Given the description of an element on the screen output the (x, y) to click on. 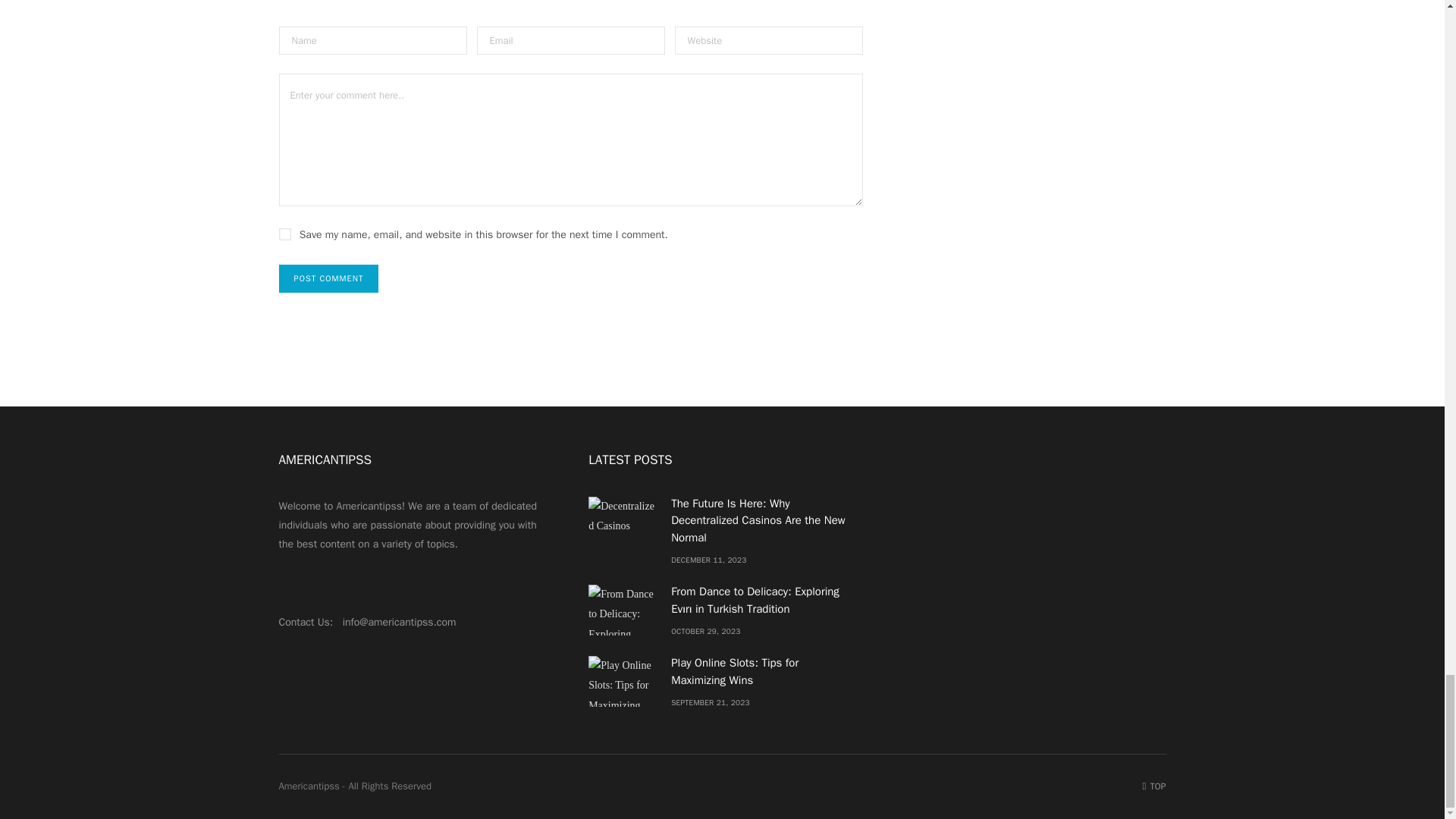
yes (285, 234)
Post Comment (328, 278)
Post Comment (328, 278)
